Given the description of an element on the screen output the (x, y) to click on. 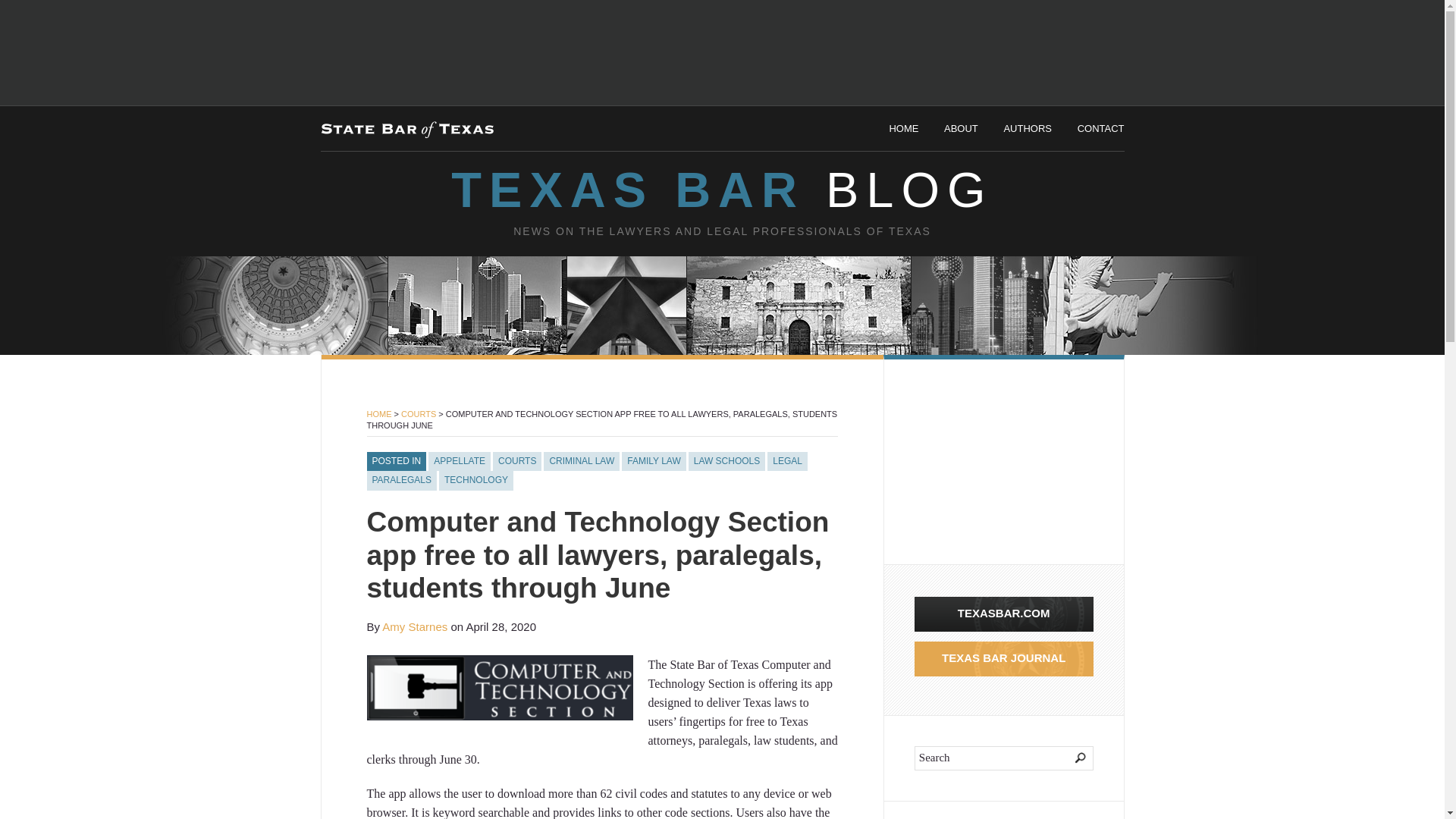
TEXAS BAR BLOG (721, 189)
CRIMINAL LAW (581, 461)
3rd party ad content (997, 461)
Amy Starnes (413, 626)
Go (1070, 757)
ABOUT (960, 128)
HOME (378, 413)
Go (1070, 757)
COURTS (517, 461)
AUTHORS (1027, 128)
HOME (903, 128)
TECHNOLOGY (476, 480)
APPELLATE (459, 461)
TEXASBAR.COM (1003, 613)
FAMILY LAW (653, 461)
